Given the description of an element on the screen output the (x, y) to click on. 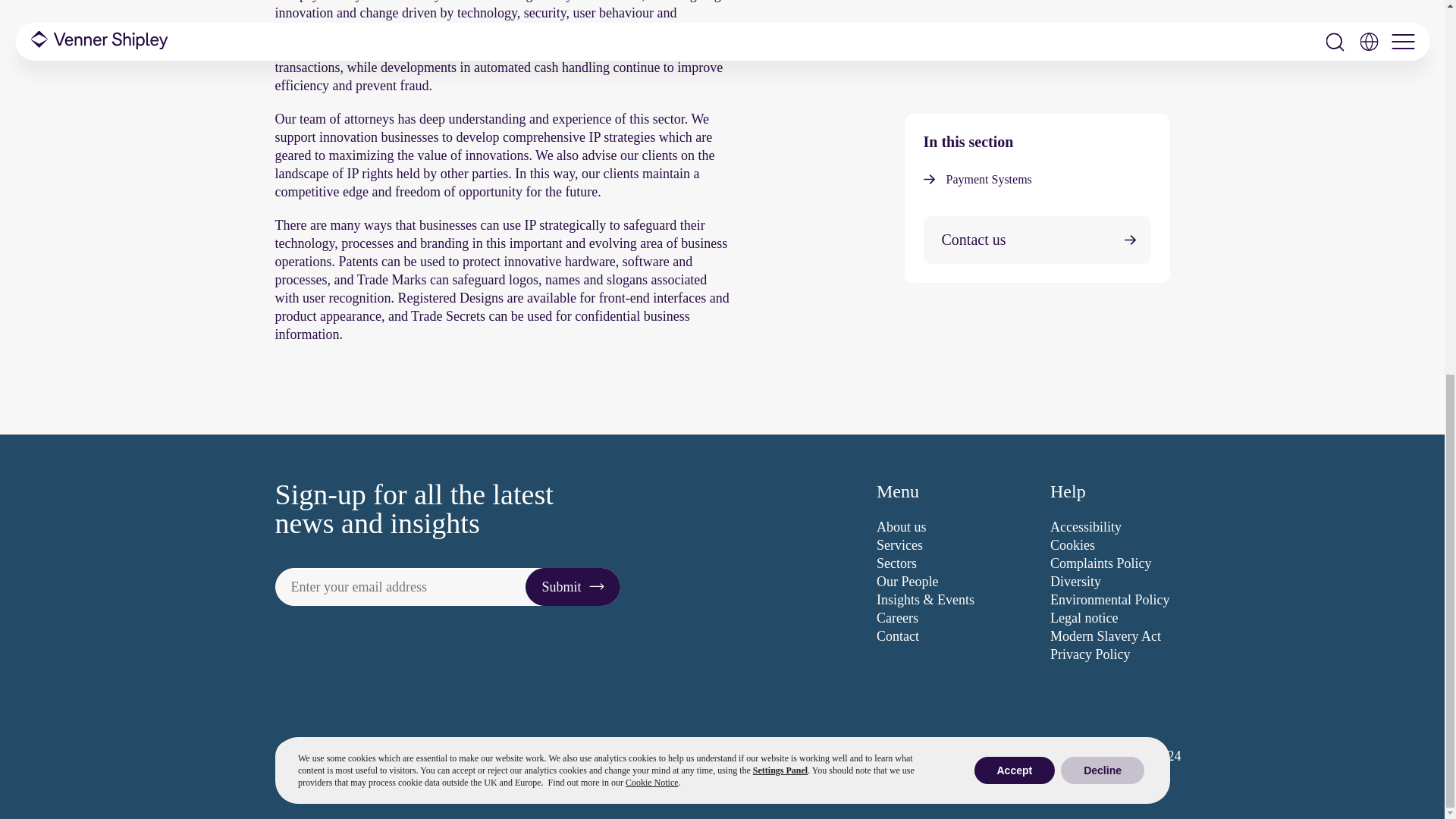
Submit (572, 587)
